Given the description of an element on the screen output the (x, y) to click on. 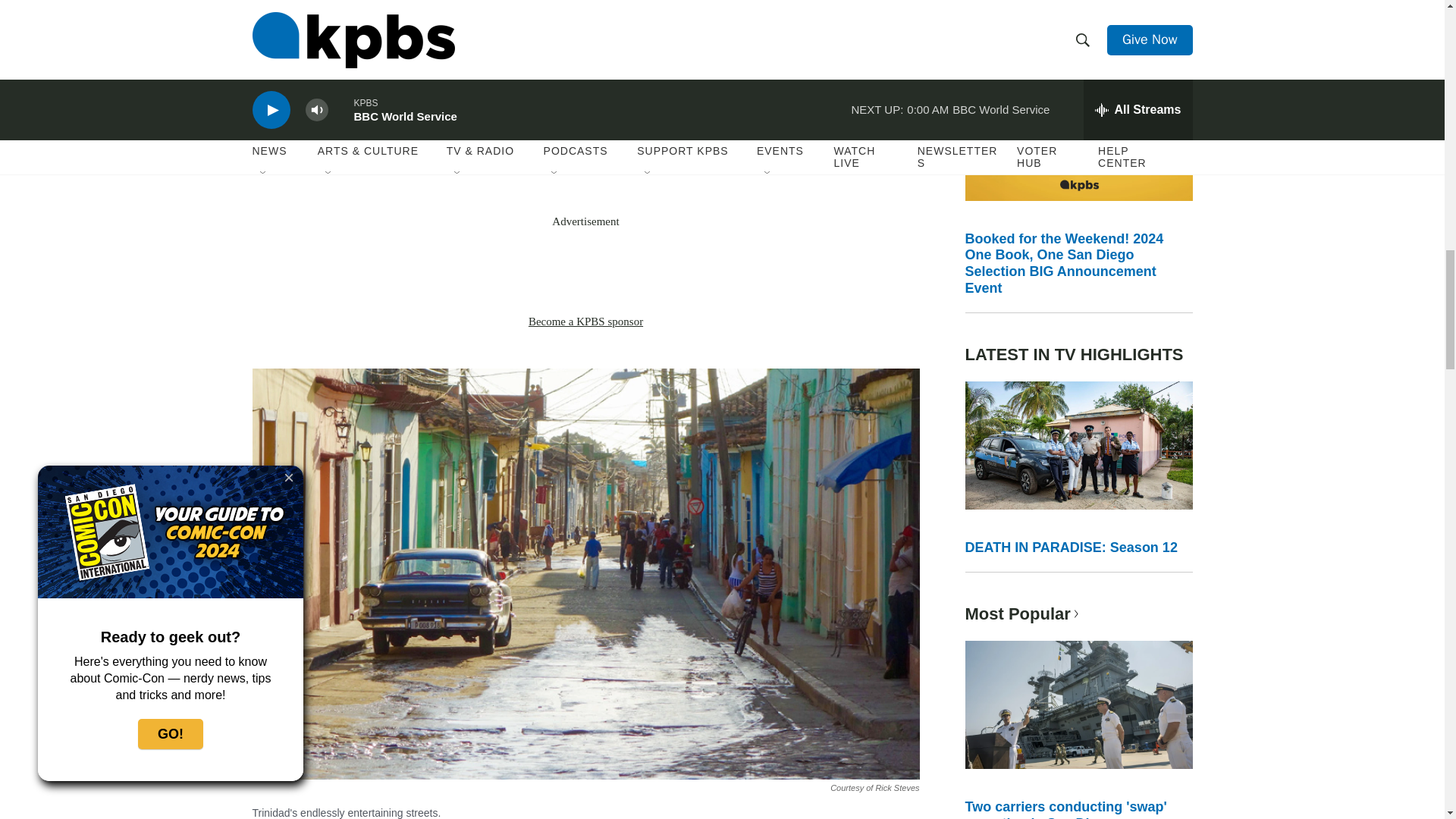
Rick (427, 87)
blog (736, 164)
3rd party ad content (584, 271)
